Given the description of an element on the screen output the (x, y) to click on. 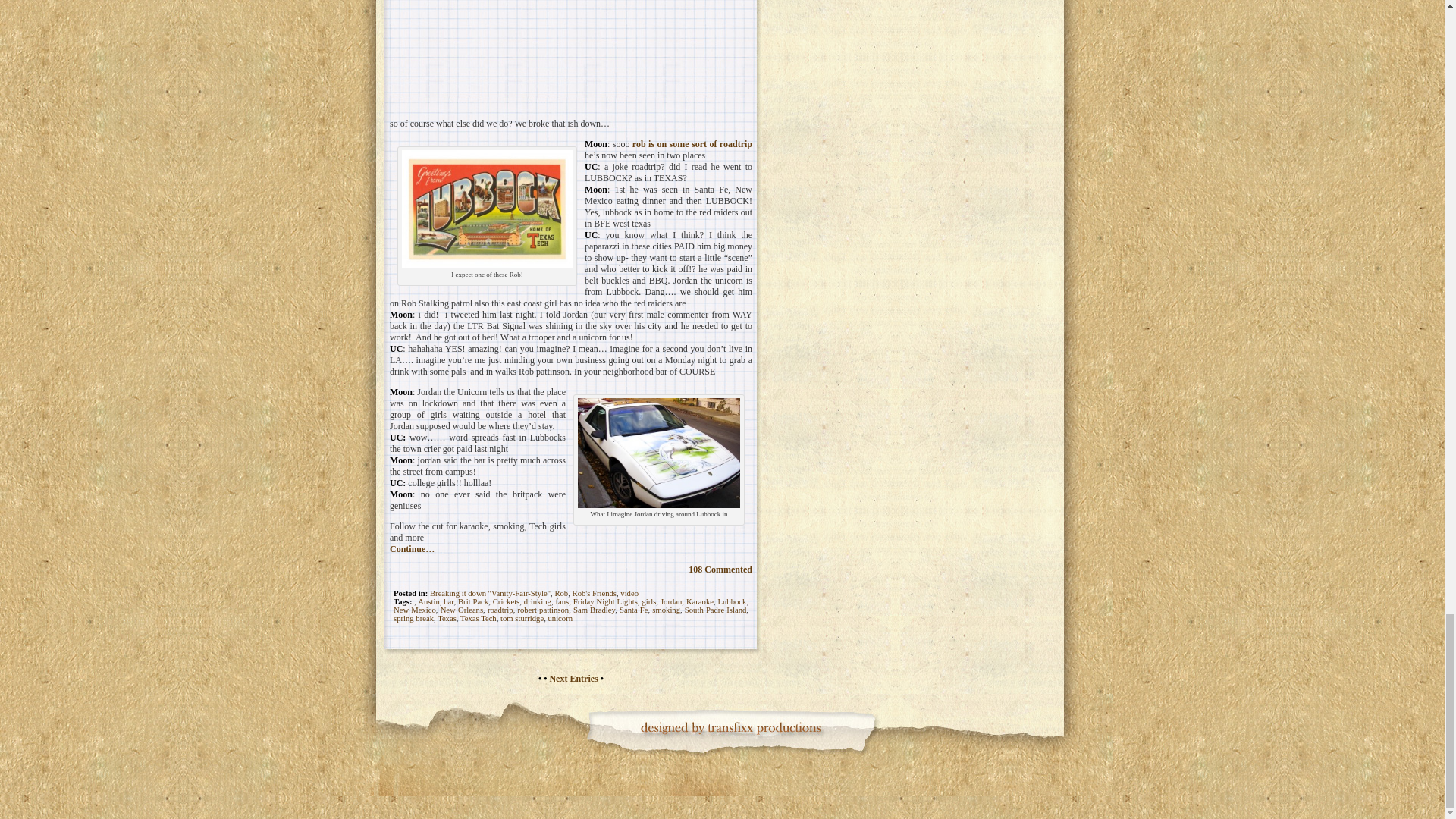
LubbockPostcard (486, 208)
unicorncar (658, 452)
